Given the description of an element on the screen output the (x, y) to click on. 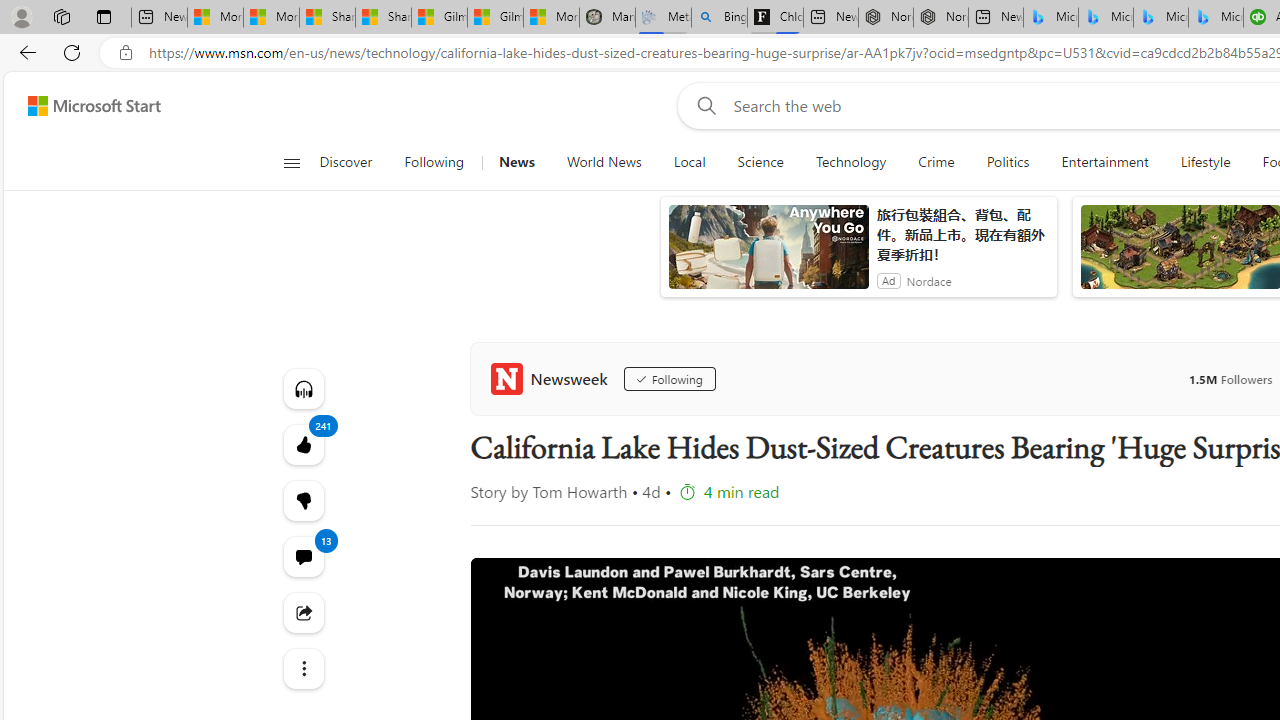
Listen to this article (302, 388)
New tab (995, 17)
anim-content (768, 255)
Skip to footer (82, 105)
Entertainment (1105, 162)
News (516, 162)
Crime (935, 162)
Workspaces (61, 16)
Open navigation menu (291, 162)
Share this story (302, 612)
Share this story (302, 612)
World News (603, 162)
Following (433, 162)
Class: button-glyph (290, 162)
